Given the description of an element on the screen output the (x, y) to click on. 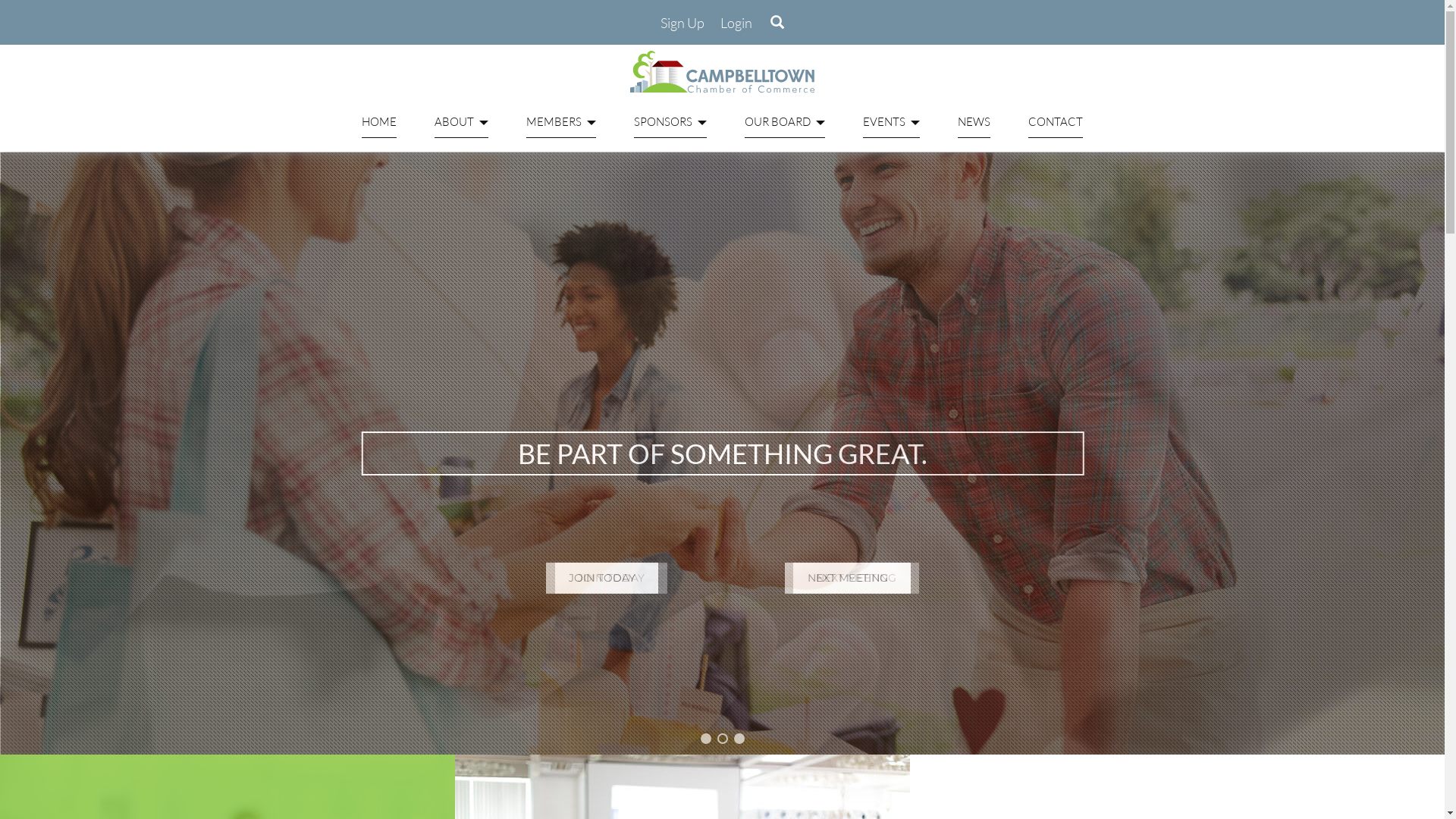
JOIN TODAY Element type: text (611, 577)
Sign Up Element type: text (682, 23)
MEMBERS Element type: text (561, 121)
SPONSORS Element type: text (669, 121)
NEWS Element type: text (973, 121)
ABOUT Element type: text (461, 121)
CONTACT Element type: text (1055, 121)
EVENTS Element type: text (890, 121)
HOME Element type: text (378, 121)
Login Element type: text (736, 23)
BE PART OF SOMETHING GREAT. Element type: text (722, 453)
OUR BOARD Element type: text (784, 121)
NEXT MEETING Element type: text (856, 577)
